Given the description of an element on the screen output the (x, y) to click on. 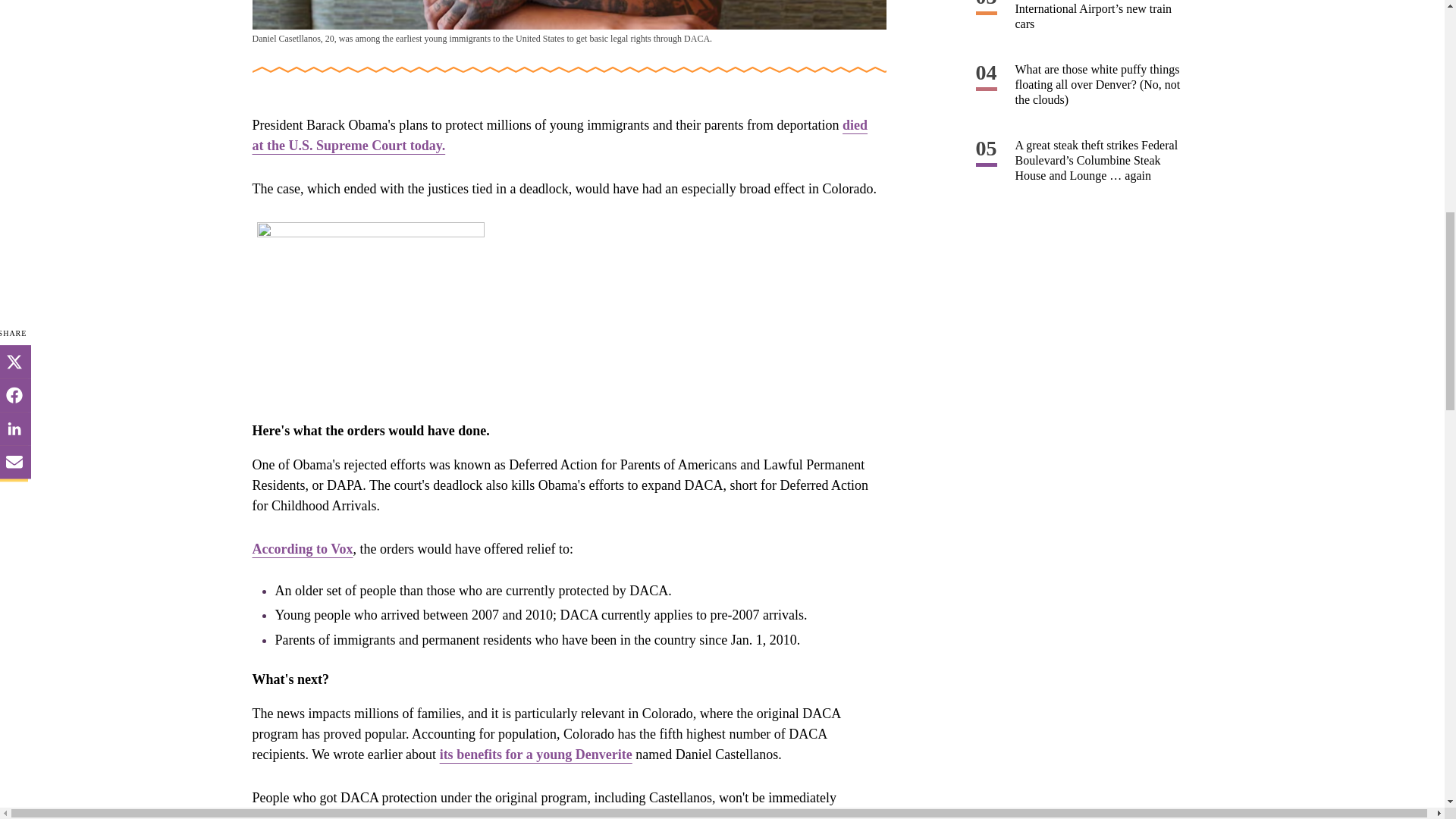
died at the U.S. Supreme Court today. (559, 135)
according to Politico. (647, 814)
According to Vox (301, 548)
its benefits for a young Denverite (535, 754)
